Given the description of an element on the screen output the (x, y) to click on. 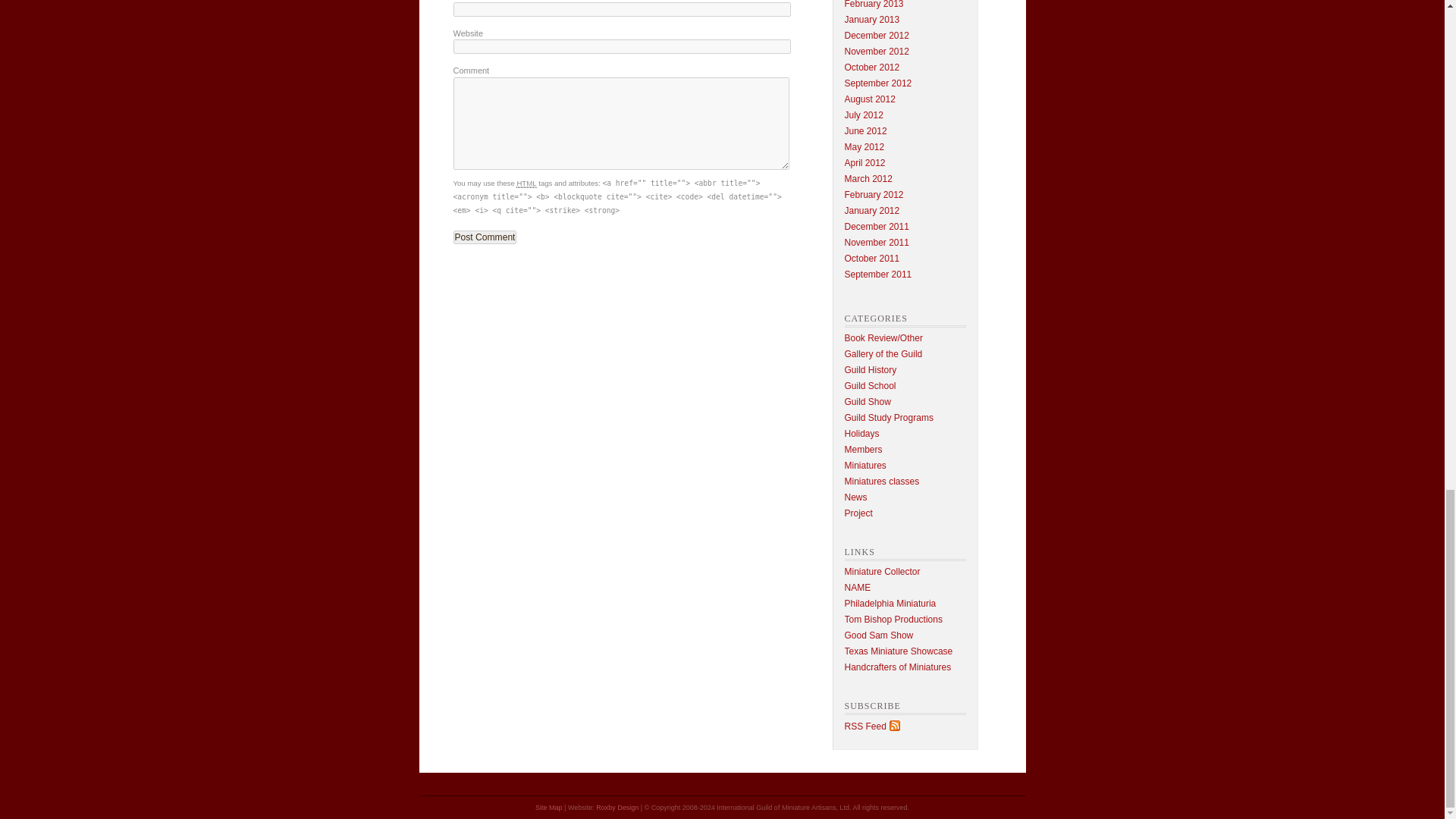
Post Comment (484, 237)
HyperText Markup Language (525, 183)
Post Comment (484, 237)
Fine miniatures shows around the world! (893, 619)
Promoting Spring and Fall Miniature Shows in New England (898, 666)
Showcase of Miniatures (879, 634)
